Given the description of an element on the screen output the (x, y) to click on. 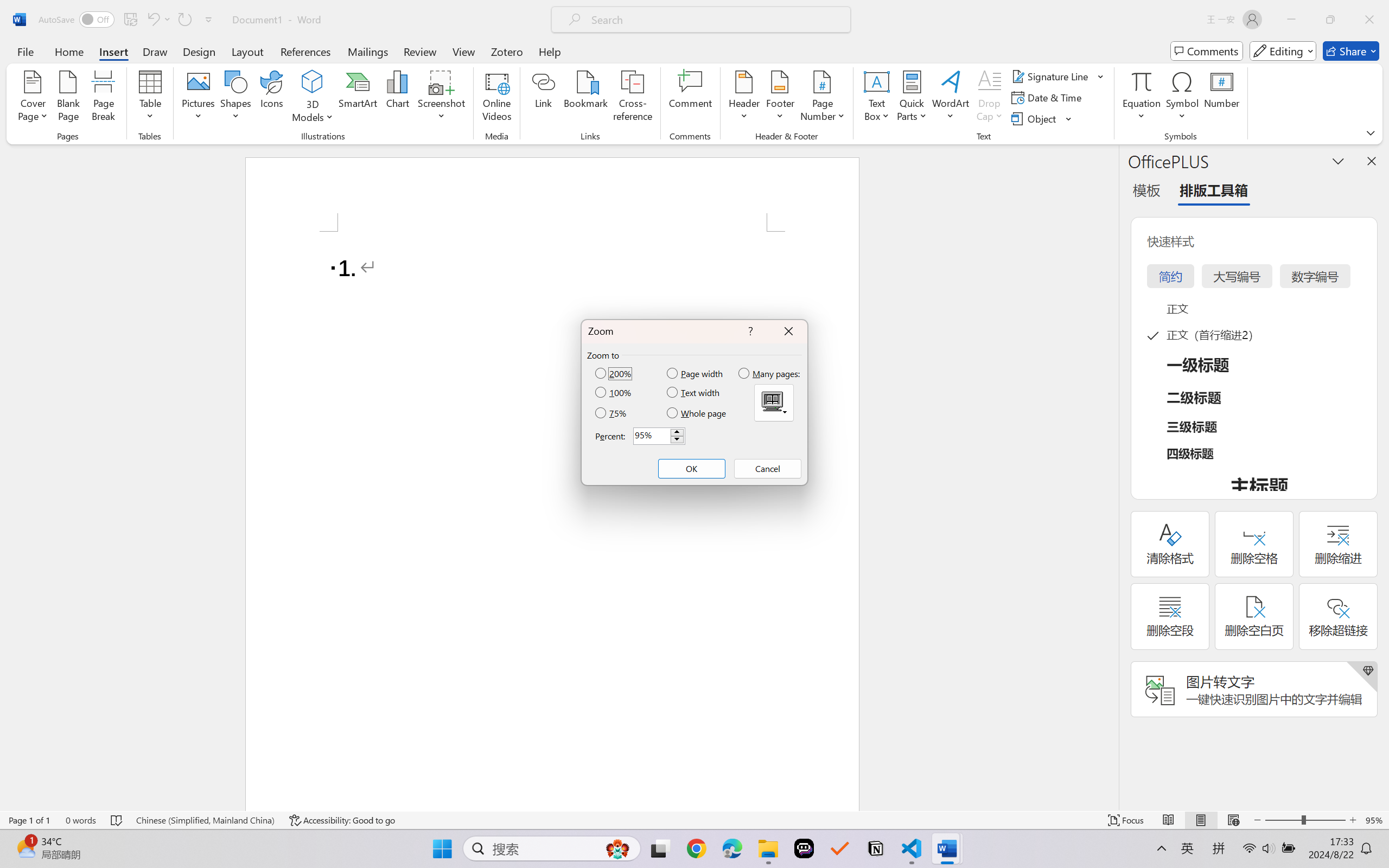
Many pages: (769, 373)
Icons (271, 97)
Equation (1141, 81)
Google Chrome (696, 848)
Pictures (198, 97)
Undo Number Default (158, 19)
Drop Cap (989, 97)
Symbol (1181, 97)
Percent: (658, 435)
